Given the description of an element on the screen output the (x, y) to click on. 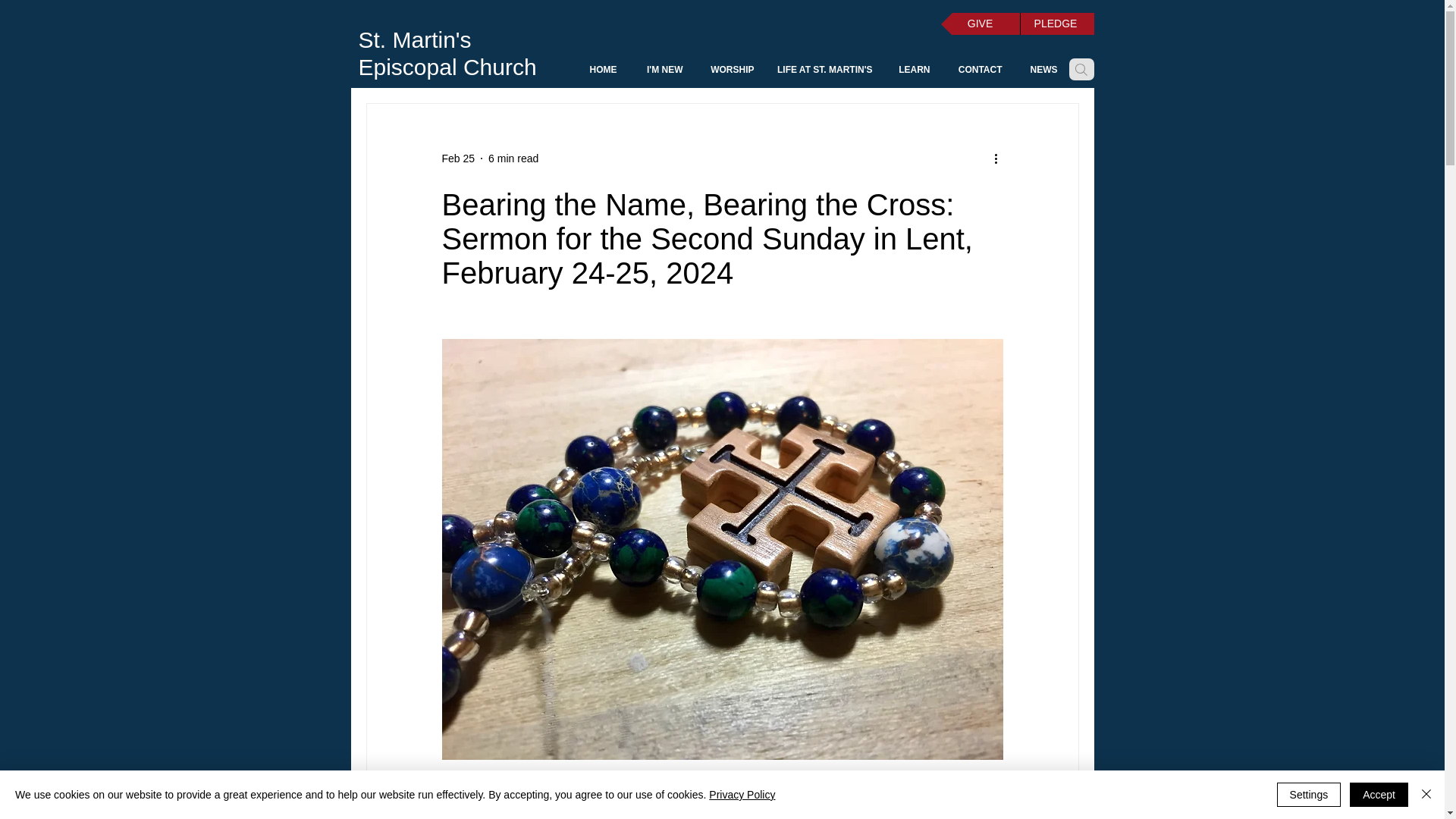
HOME (599, 69)
NEWS (1040, 69)
6 min read (512, 157)
WORSHIP (729, 69)
CONTACT (977, 69)
St. Martin's (414, 39)
PLEDGE (1056, 24)
GIVE (979, 24)
I'M NEW (660, 69)
Feb 25 (457, 157)
